Given the description of an element on the screen output the (x, y) to click on. 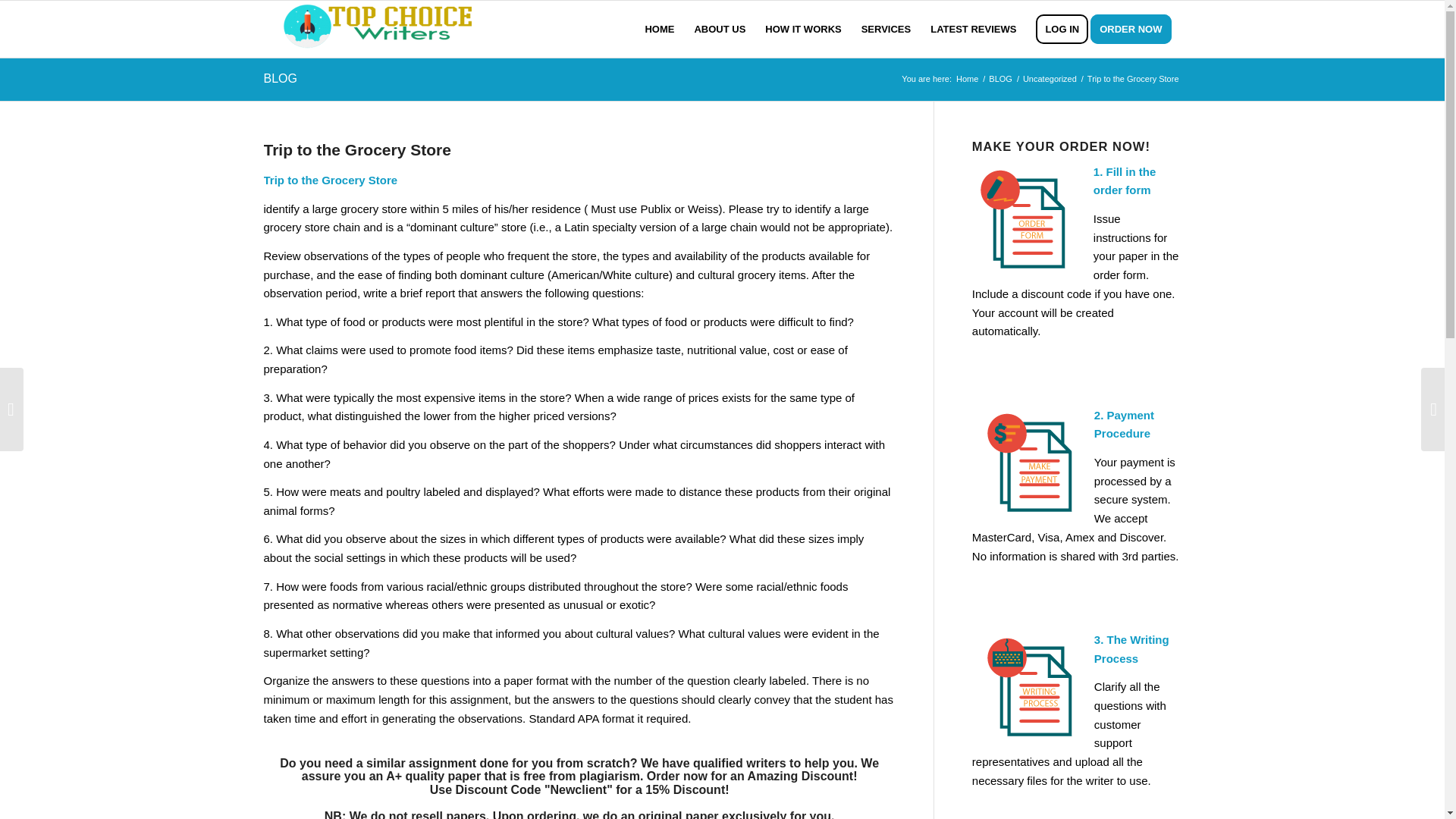
Trip to the Grocery Store (357, 149)
ABOUT US (719, 28)
Home (966, 79)
topchoicewriters.com (966, 79)
LATEST REVIEWS (973, 28)
LOG IN (1061, 28)
Permanent Link: Trip to the Grocery Store (357, 149)
HOW IT WORKS (802, 28)
Uncategorized (1049, 79)
BLOG (280, 78)
BLOG (1000, 79)
BLOG (1000, 79)
ORDER NOW (1135, 28)
SERVICES (886, 28)
Permanent Link: BLOG (280, 78)
